Given the description of an element on the screen output the (x, y) to click on. 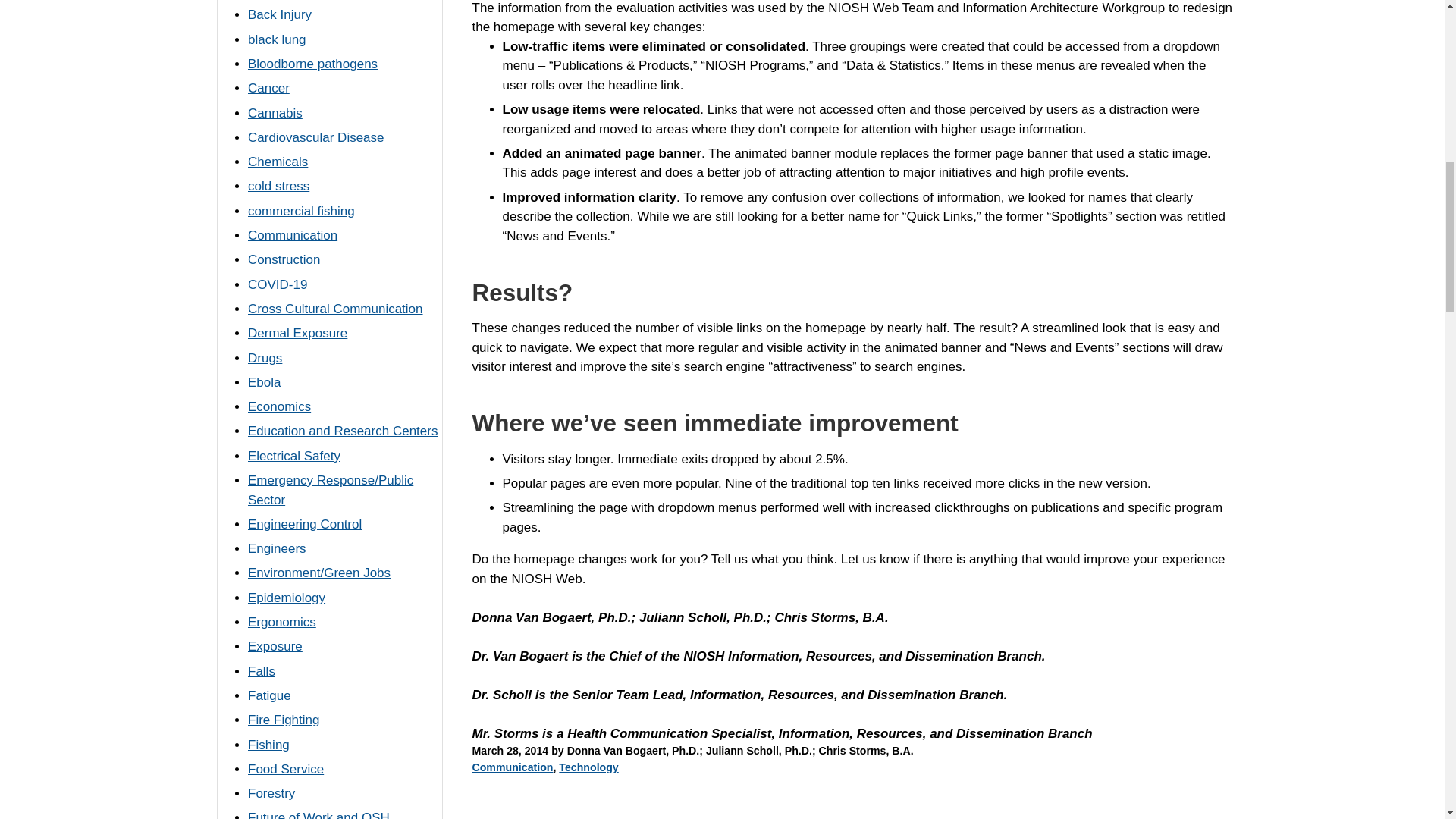
Technology (588, 767)
Communication (512, 767)
